Given the description of an element on the screen output the (x, y) to click on. 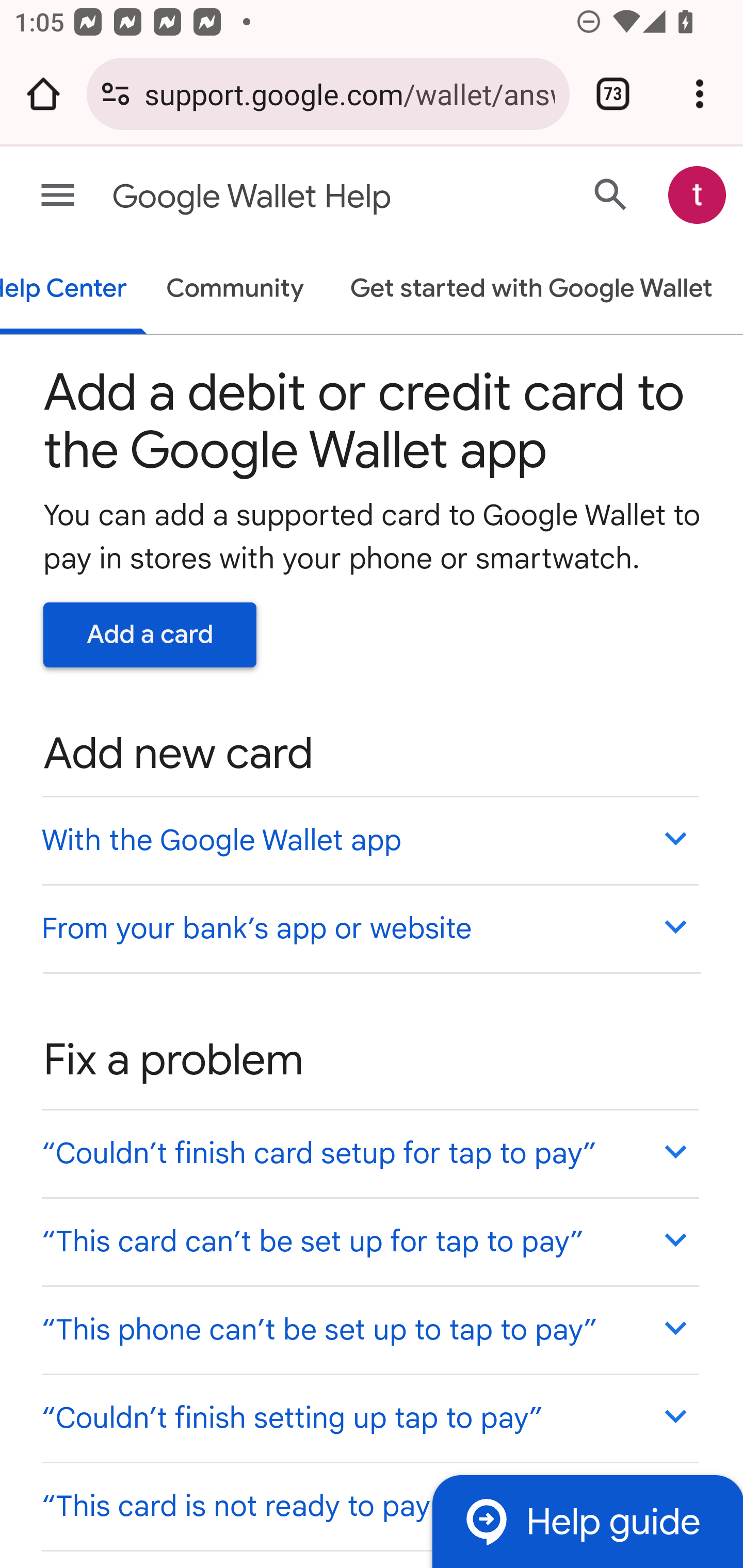
Open the home page (43, 93)
Connection is secure (115, 93)
Switch or close tabs (612, 93)
Customize and control Google Chrome (699, 93)
Main menu (58, 195)
Google Wallet Help (292, 197)
Search Help Center (611, 194)
Help Center (73, 289)
Community (235, 289)
Get started with Google Wallet (530, 289)
Add a card (150, 633)
With the Google Wallet app (369, 839)
From your bank’s app or website (369, 927)
“Couldn’t finish card setup for tap to pay” (369, 1152)
“This card can’t be set up for tap to pay” (369, 1240)
“This phone can’t be set up to tap to pay” (369, 1329)
“Couldn’t finish setting up tap to pay” (369, 1417)
“This card is not ready to pay online” (369, 1504)
Help guide (587, 1520)
